Given the description of an element on the screen output the (x, y) to click on. 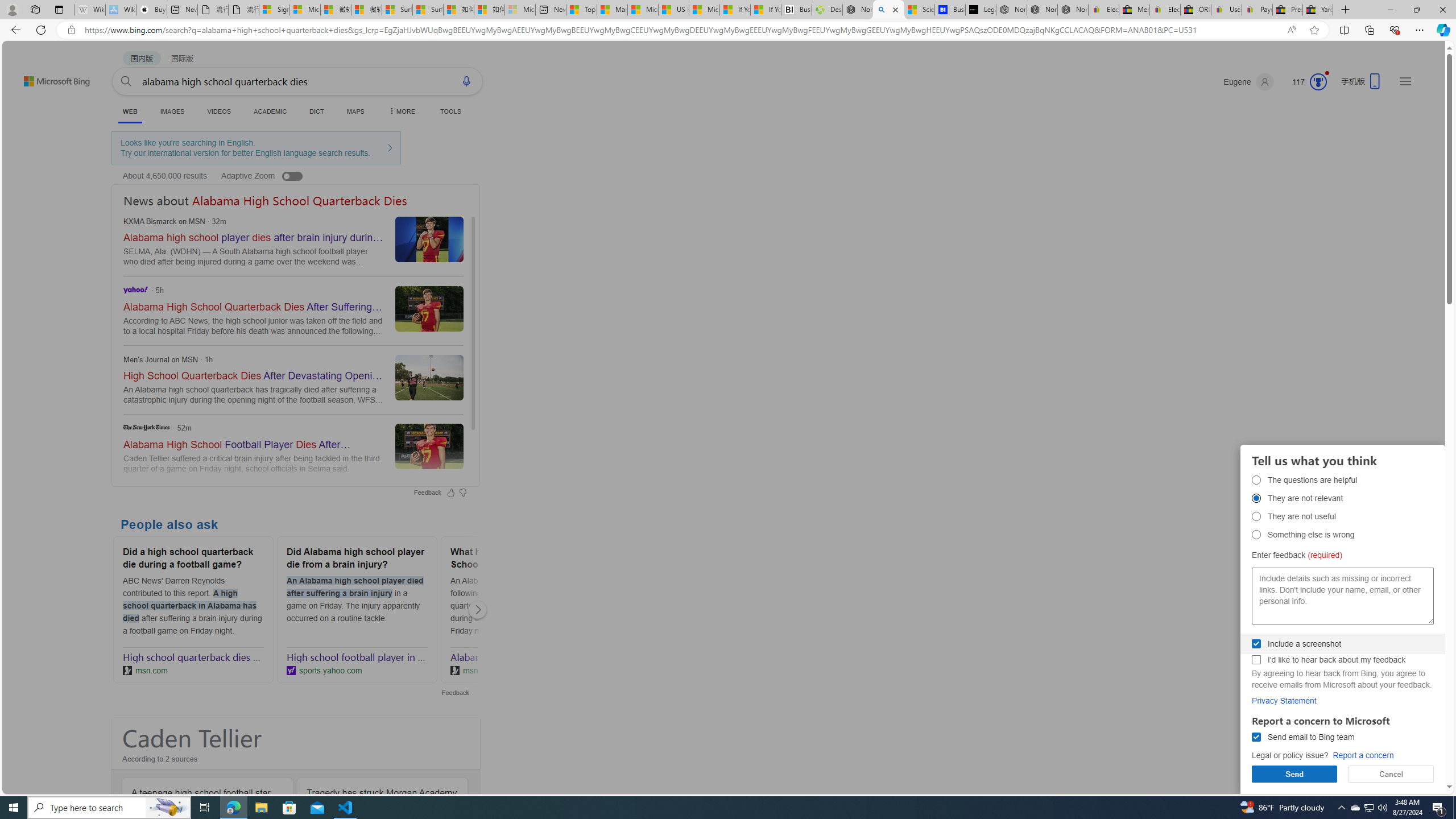
Press Room - eBay Inc. (1287, 9)
Descarga Driver Updater (826, 9)
Microsoft account | Account Checkup - Sleeping (519, 9)
Yard, Garden & Outdoor Living (1317, 9)
AutomationID: fbpgdgSmtngWrong (1256, 533)
The questions are helpful The questions are helpful (1256, 479)
They are not useful They are not useful (1256, 515)
Wikipedia - Sleeping (89, 9)
